Given the description of an element on the screen output the (x, y) to click on. 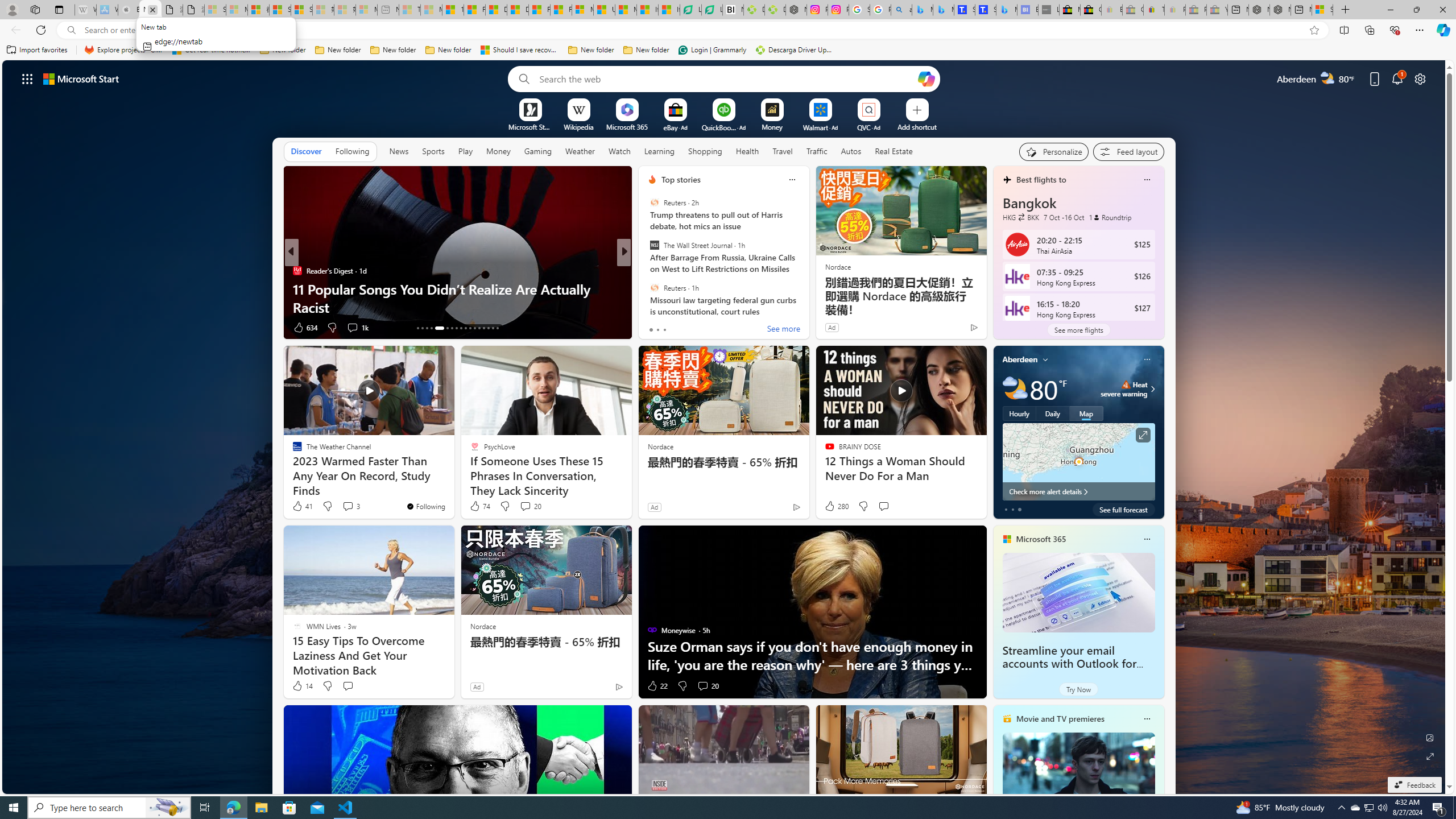
232 Like (654, 327)
AutomationID: tab-43 (488, 328)
15 Phrases That Enrage Millennials and Generation Z (807, 307)
74 Like (479, 505)
7 Like (651, 327)
LendingTree - Compare Lenders (712, 9)
Not Your Boss Babe (647, 270)
